Given the description of an element on the screen output the (x, y) to click on. 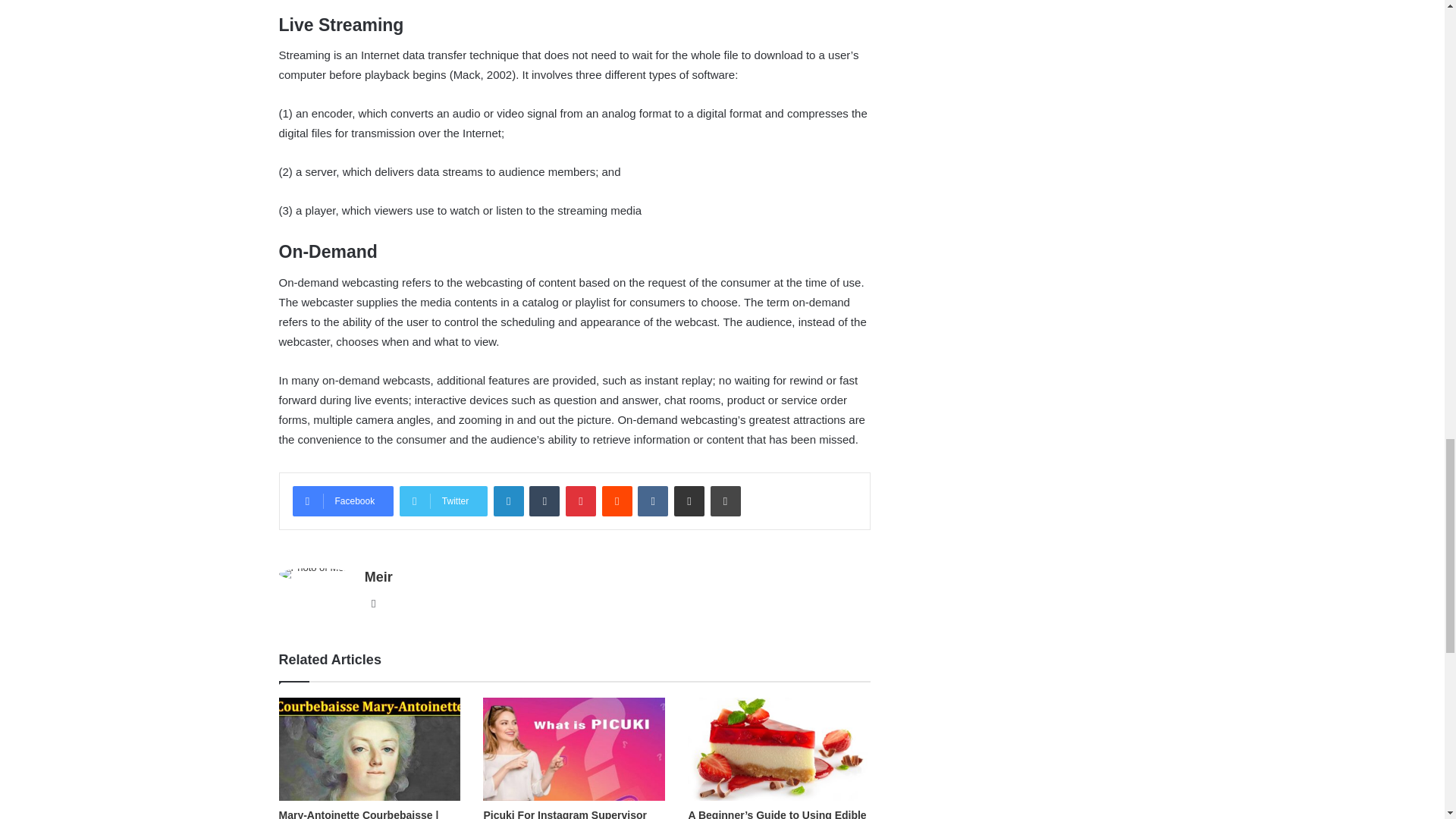
Tumblr (544, 501)
Share via Email (689, 501)
Print (725, 501)
Facebook (343, 501)
LinkedIn (508, 501)
Twitter (442, 501)
Share via Email (689, 501)
Pinterest (580, 501)
Reddit (616, 501)
LinkedIn (508, 501)
VKontakte (652, 501)
Meir (379, 576)
VKontakte (652, 501)
Print (725, 501)
